Given the description of an element on the screen output the (x, y) to click on. 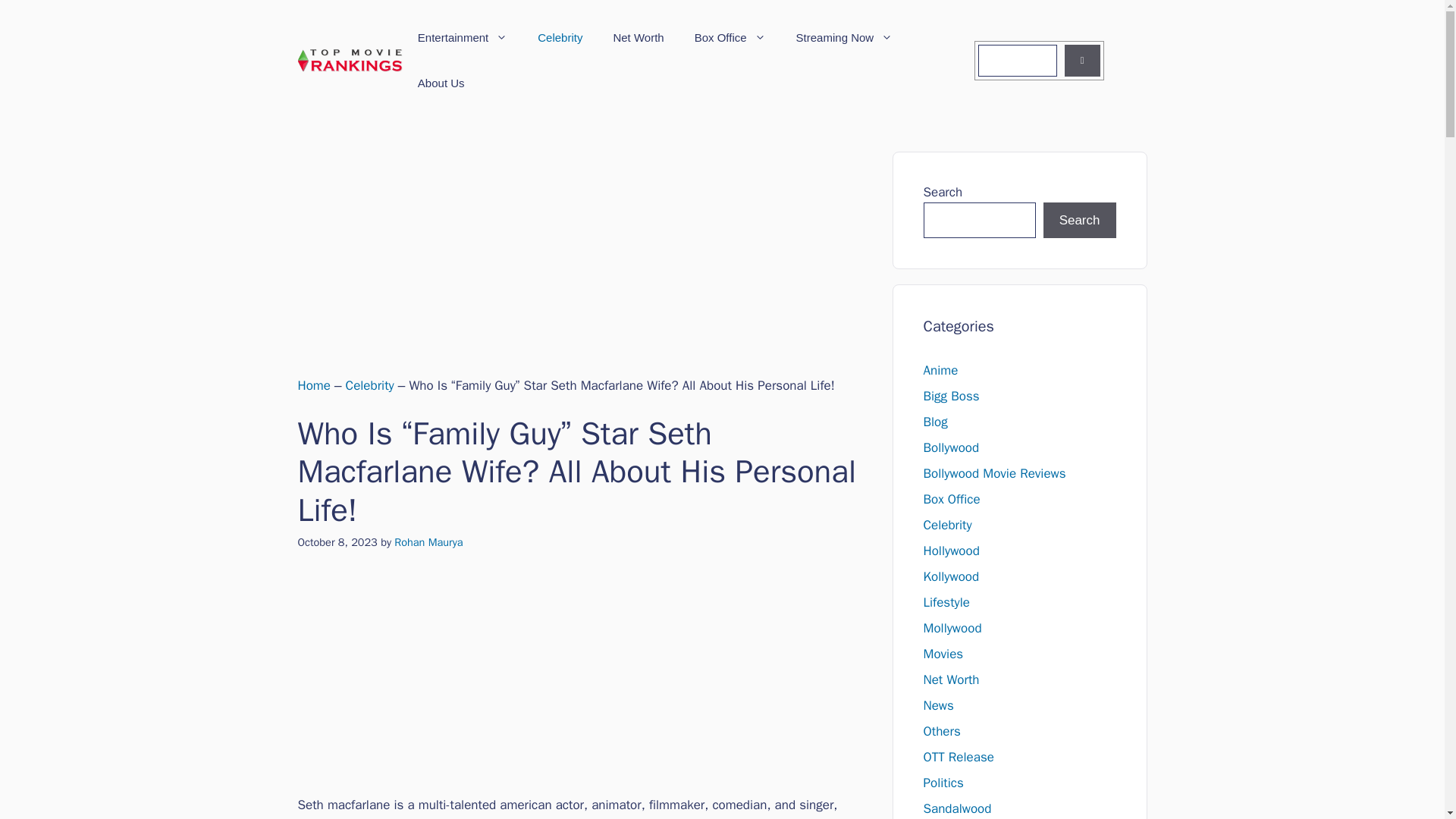
Streaming Now (844, 37)
Entertainment (462, 37)
Box Office (729, 37)
About Us (441, 83)
Net Worth (637, 37)
Celebrity (370, 385)
Home (313, 385)
View all posts by Rohan Maurya (428, 541)
Celebrity (559, 37)
Rohan Maurya (428, 541)
